Given the description of an element on the screen output the (x, y) to click on. 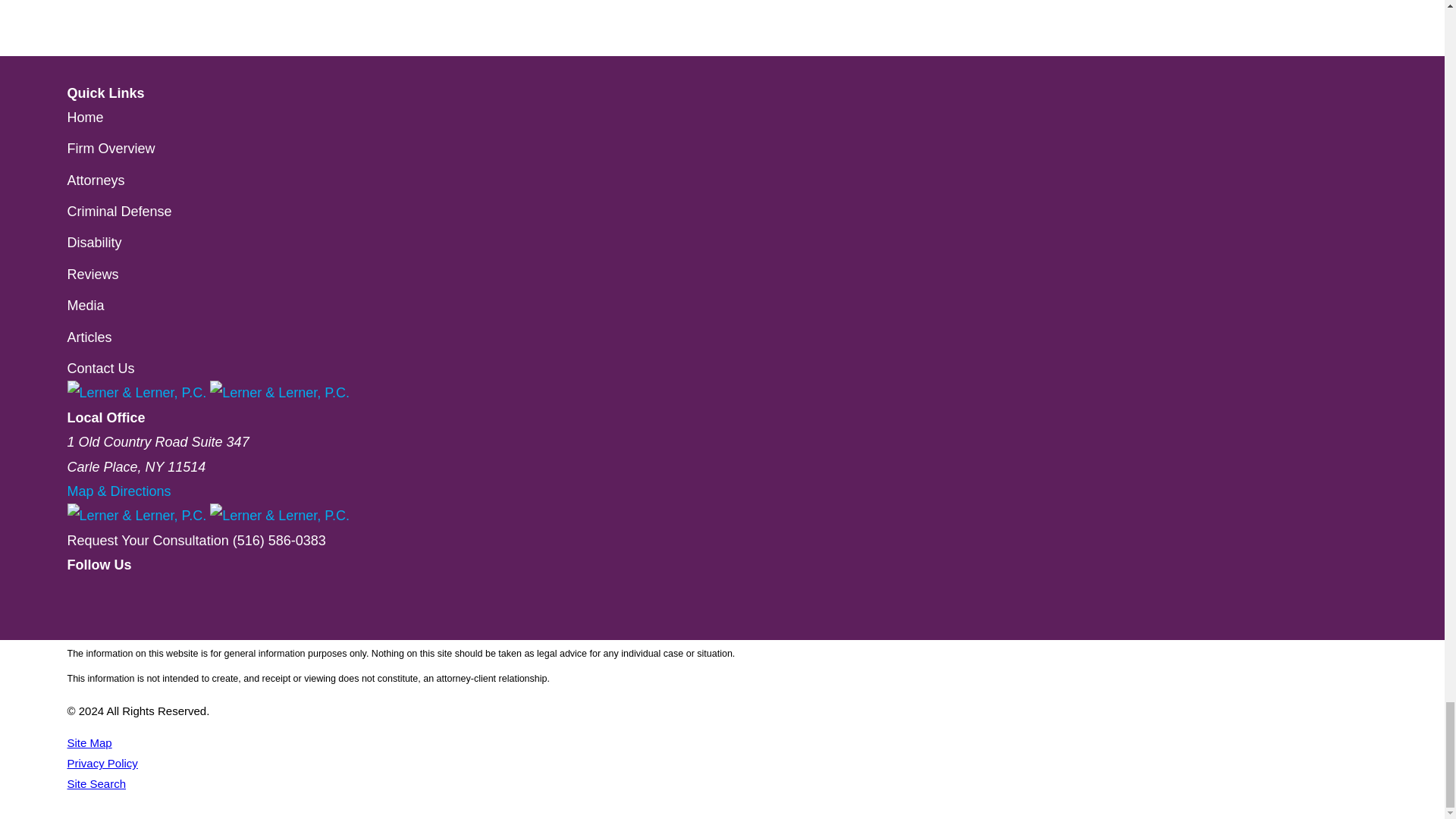
Home (207, 392)
Facebook (73, 603)
Twitter (73, 627)
Home (207, 515)
